Given the description of an element on the screen output the (x, y) to click on. 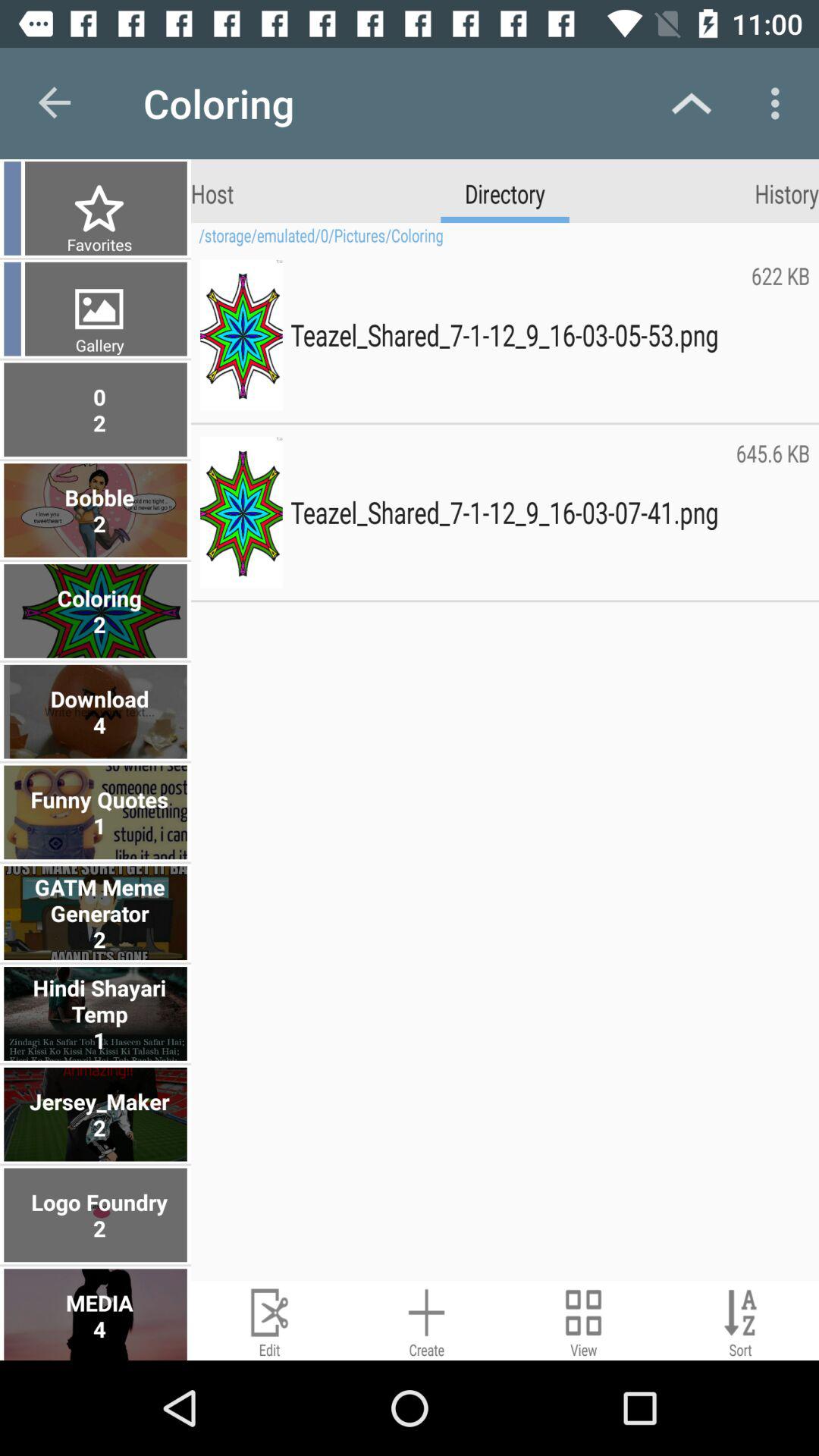
scroll until host app (212, 193)
